Given the description of an element on the screen output the (x, y) to click on. 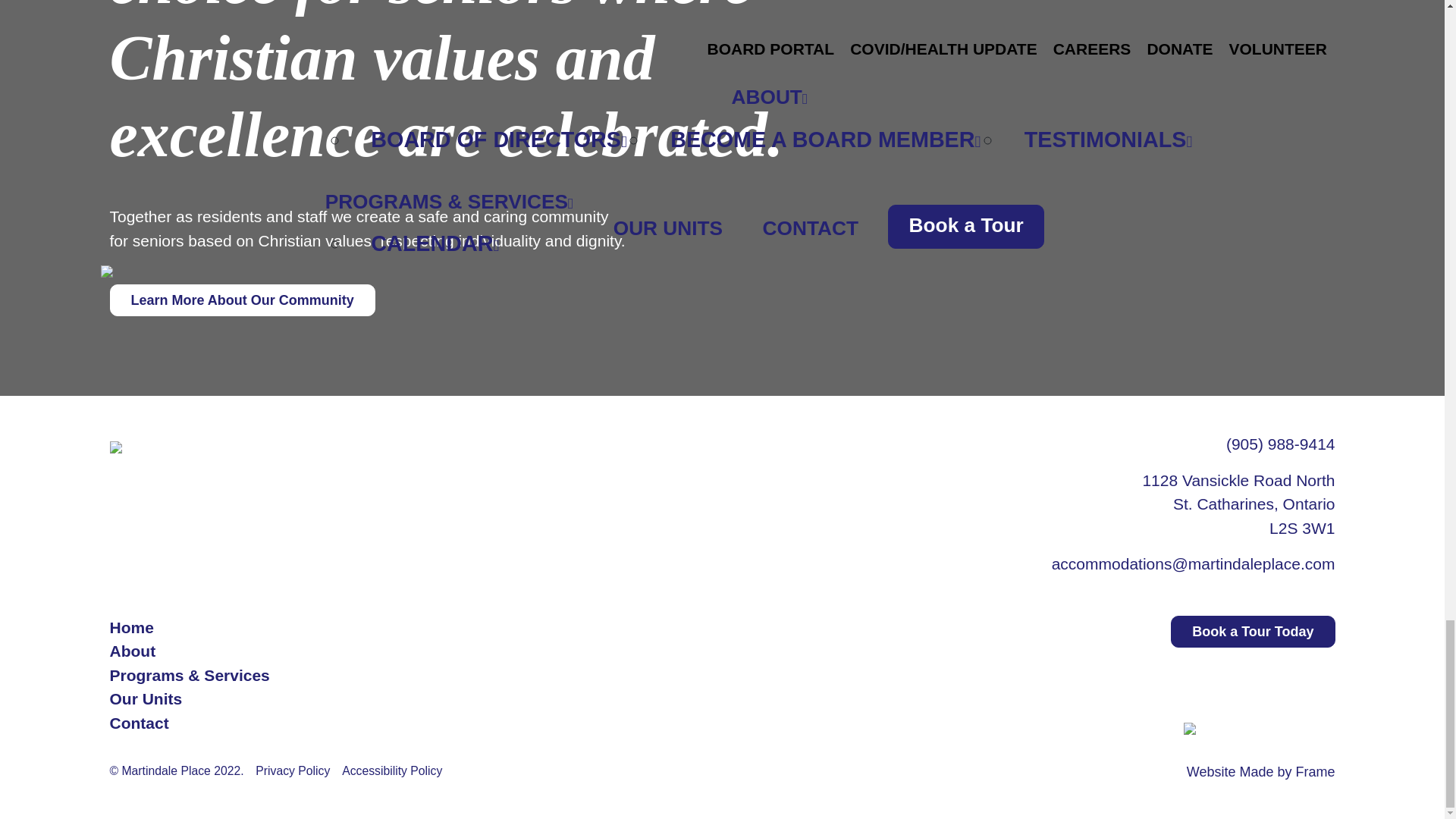
Home (130, 627)
Our Units (145, 698)
Privacy Policy (293, 770)
About (132, 651)
Book a Tour Today (1252, 631)
Accessibility Policy (392, 770)
Learn More About Our Community (241, 300)
Made by Frame (1287, 771)
Contact (138, 723)
